Given the description of an element on the screen output the (x, y) to click on. 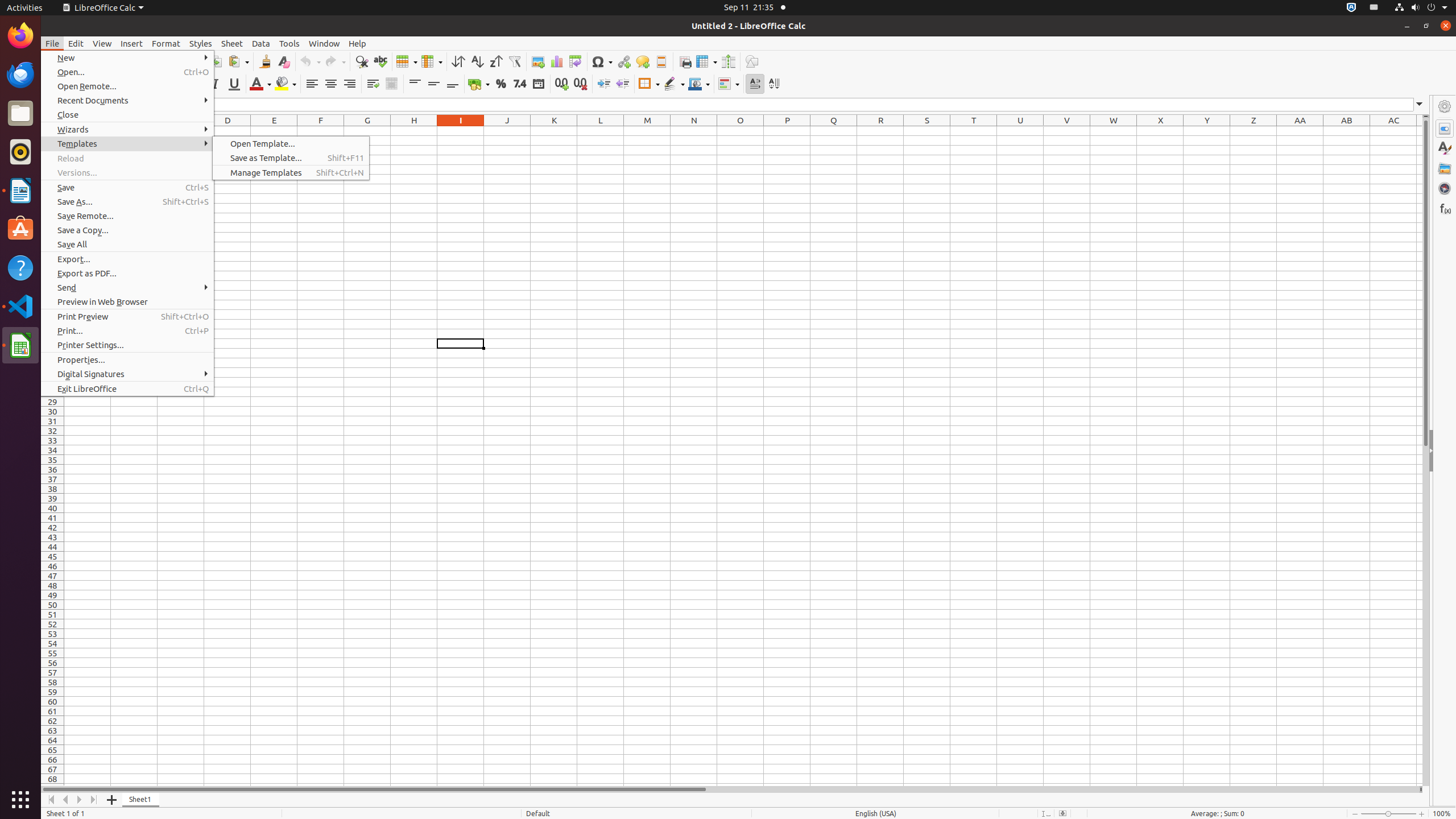
Exit LibreOffice Element type: menu-item (126, 388)
Sort Descending Element type: push-button (495, 61)
View Element type: menu (102, 43)
Redo Element type: push-button (334, 61)
New Element type: menu (126, 57)
